Given the description of an element on the screen output the (x, y) to click on. 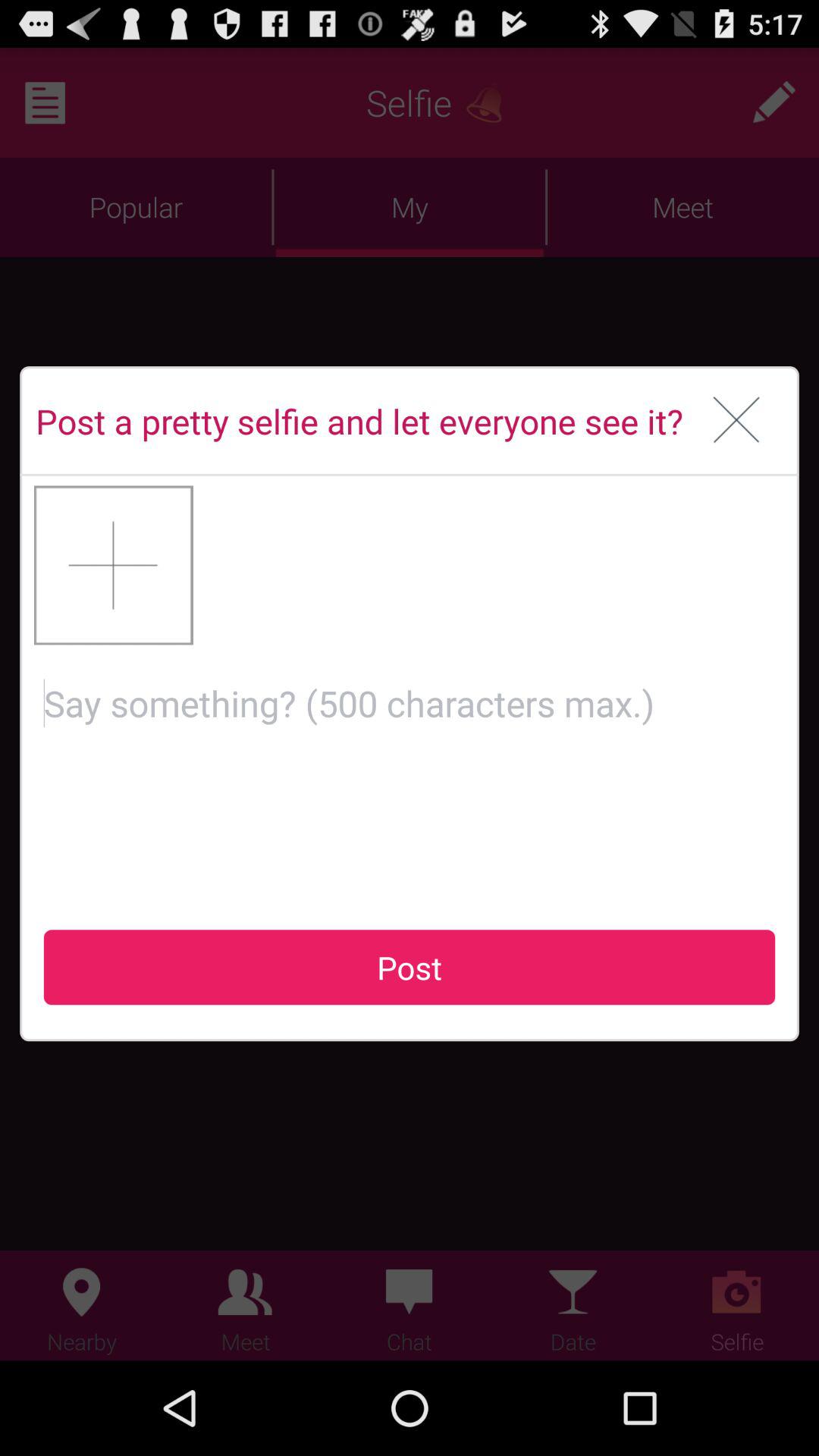
select the item to the right of the post a pretty item (736, 421)
